Given the description of an element on the screen output the (x, y) to click on. 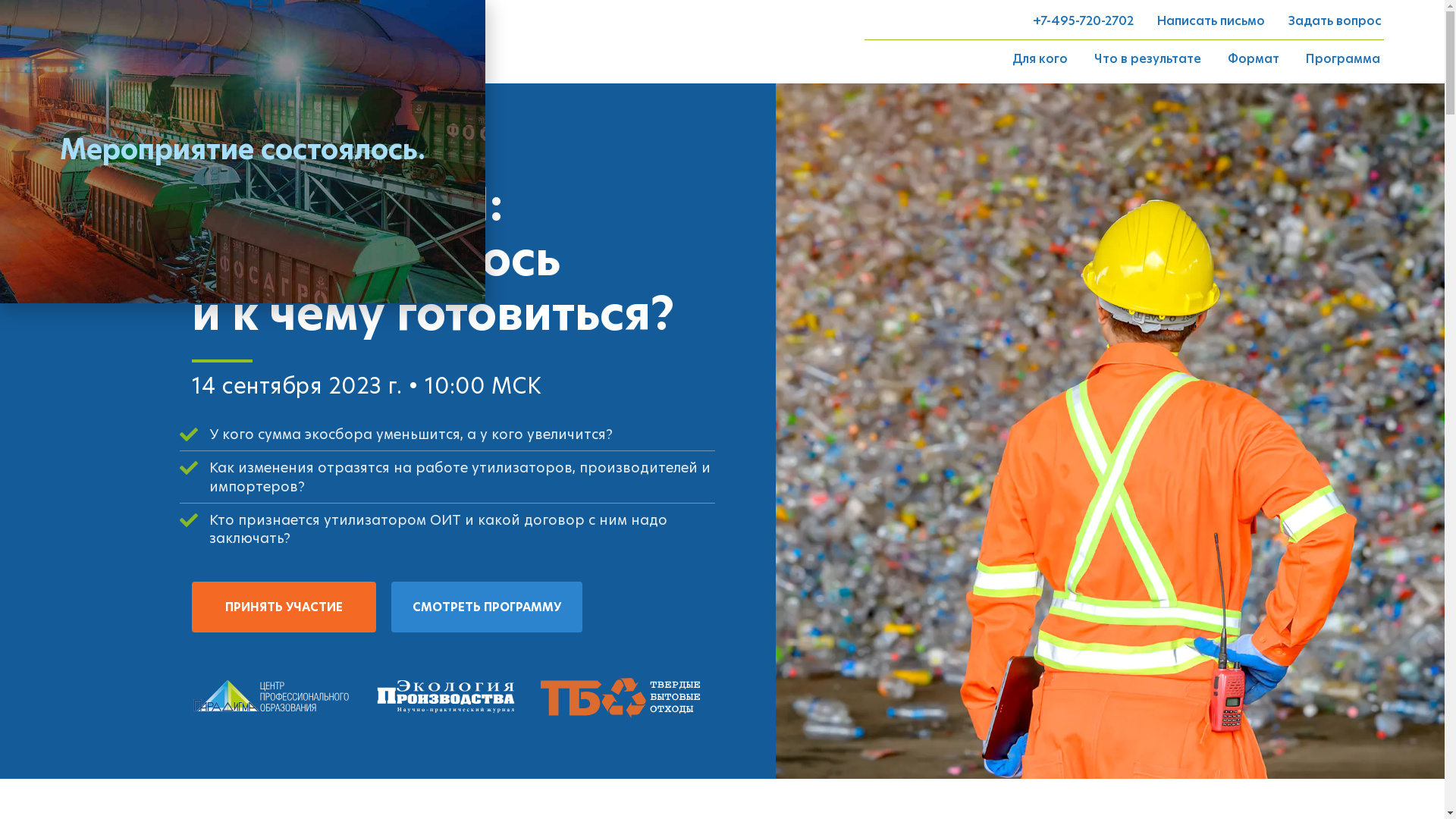
+7-495-720-2702 Element type: text (1082, 20)
